Given the description of an element on the screen output the (x, y) to click on. 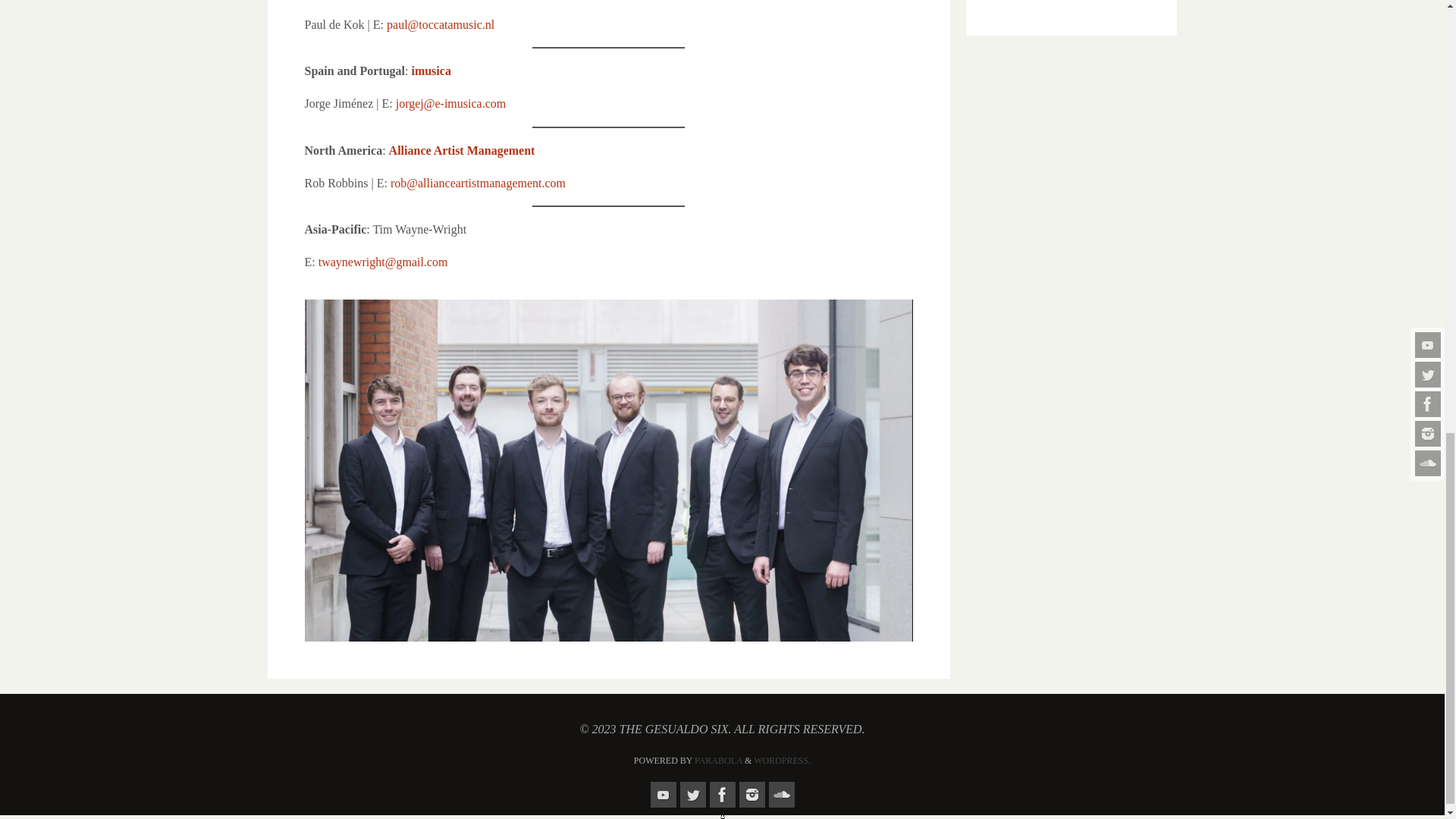
Alliance Artist Management (461, 150)
imusica (429, 70)
The Gesualdo Six (1070, 6)
Parabola Theme by Cryout Creations (718, 760)
